Given the description of an element on the screen output the (x, y) to click on. 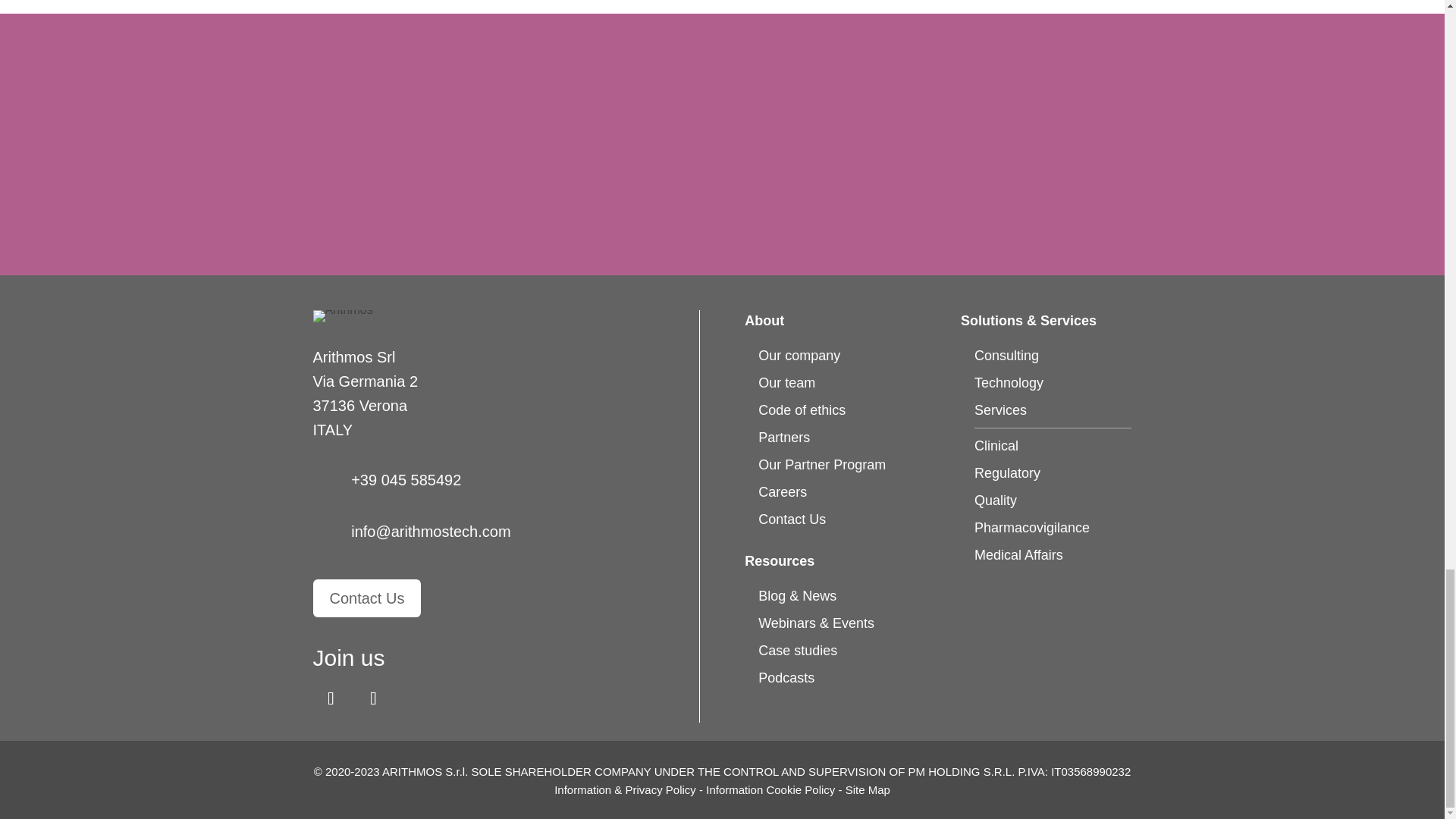
Follow on LinkedIn (331, 698)
Arithmos (342, 316)
Follow on X (373, 698)
